Given the description of an element on the screen output the (x, y) to click on. 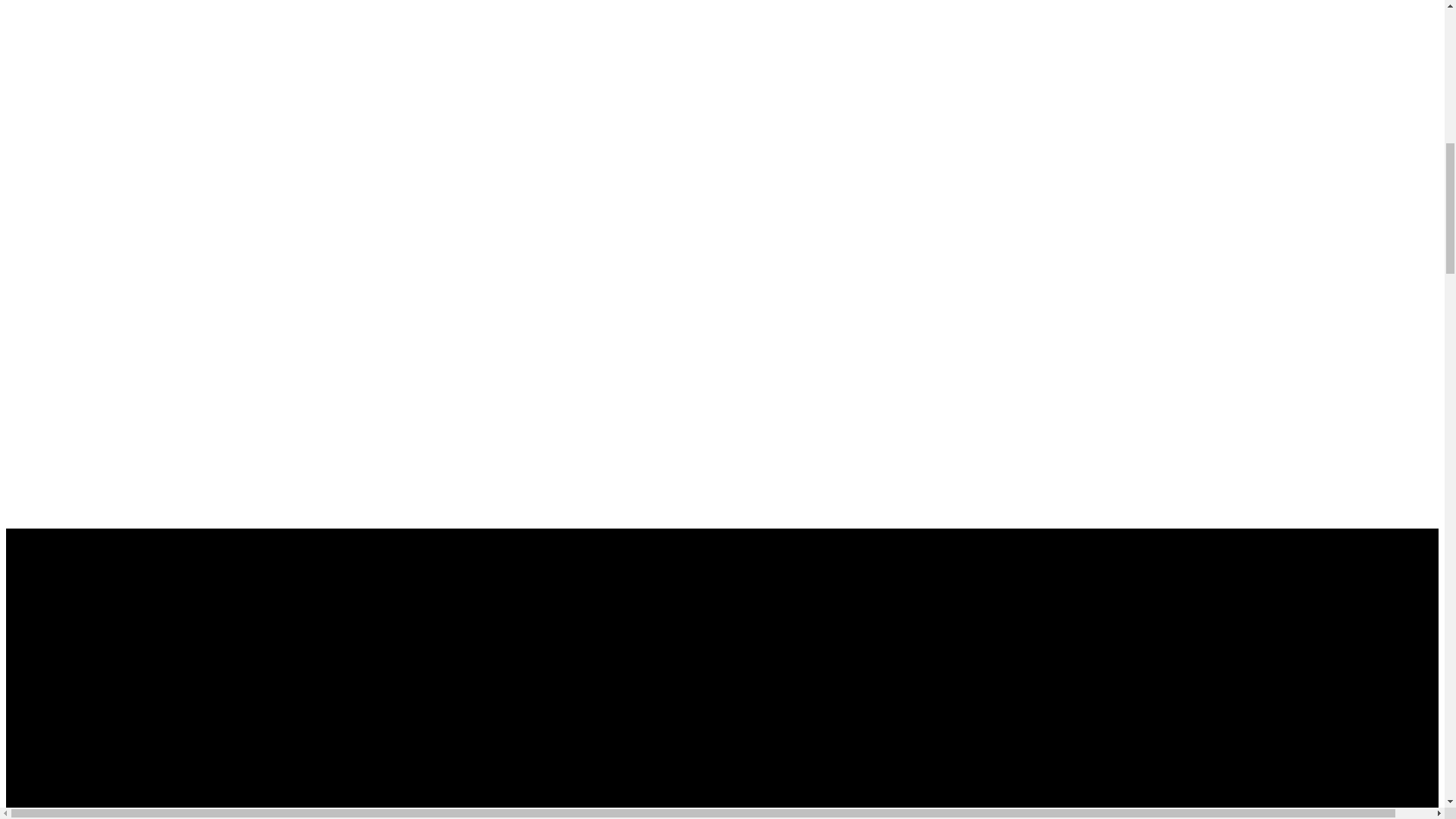
Send My Password (54, 797)
Login (24, 595)
Register (30, 711)
